Given the description of an element on the screen output the (x, y) to click on. 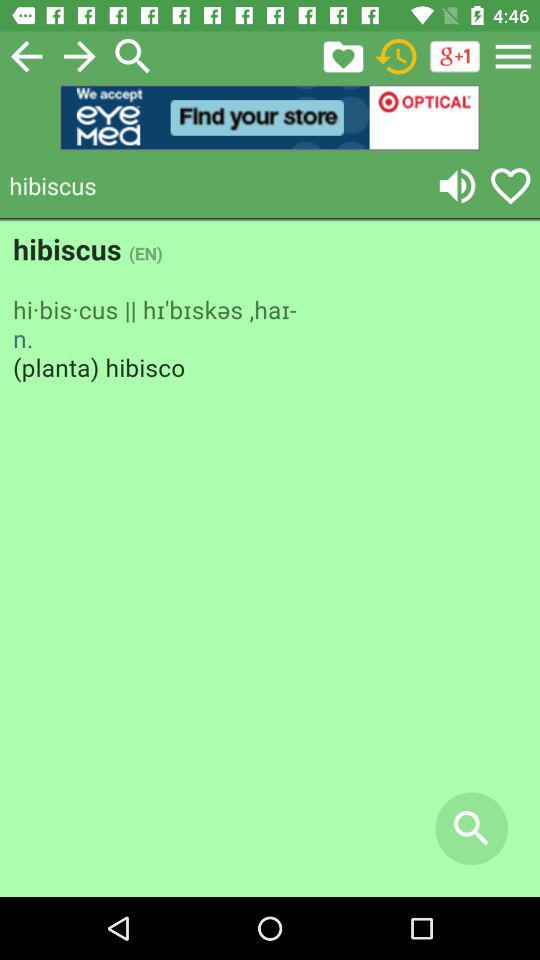
adventisment page (270, 559)
